Given the description of an element on the screen output the (x, y) to click on. 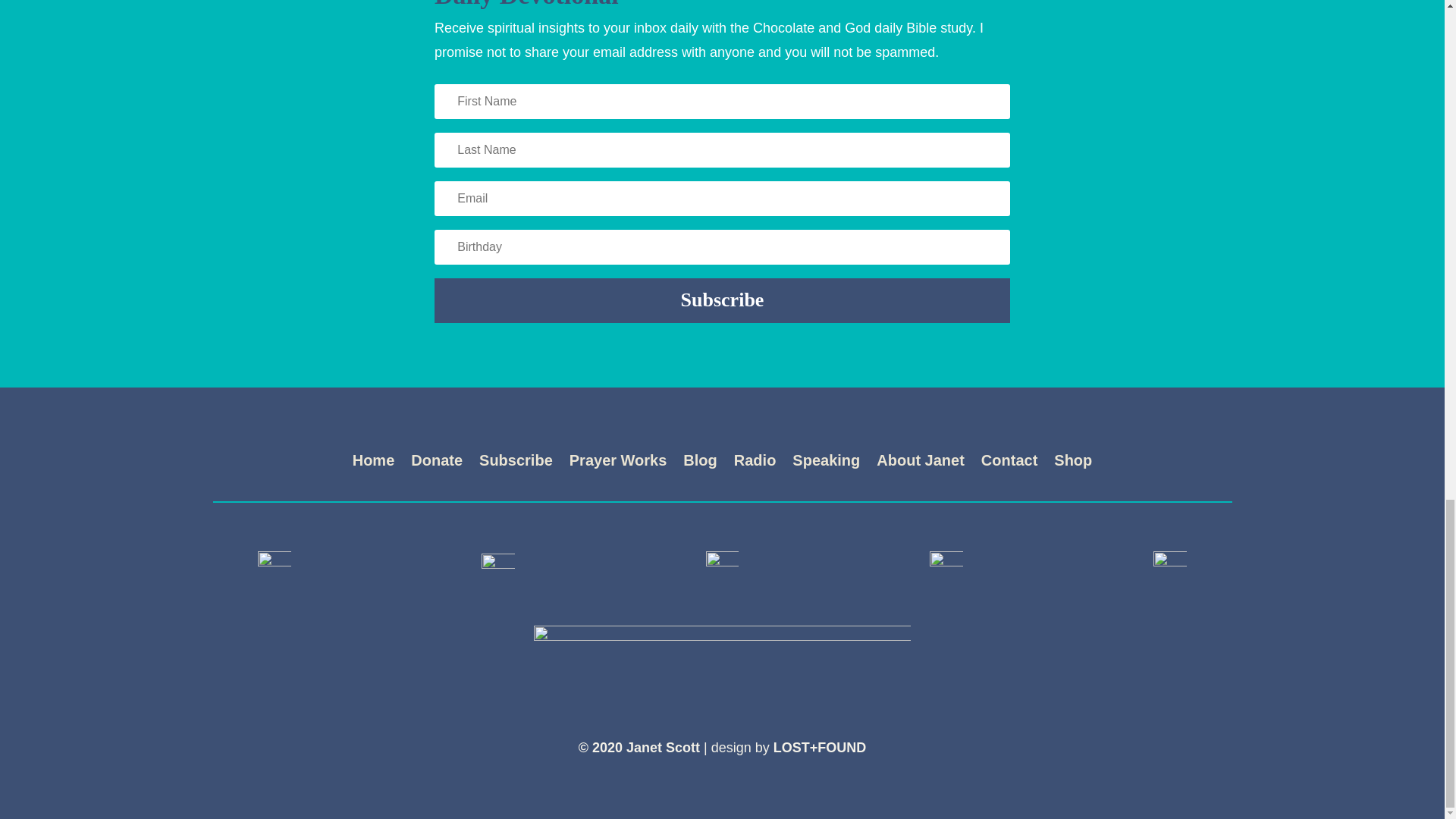
Donate (436, 463)
twitter-footer-icon (498, 566)
About Janet (919, 463)
Prayer Works (617, 463)
Contact (1008, 463)
Blog (699, 463)
Subscribe (516, 463)
Radio (754, 463)
Subscribe (721, 300)
Shop (1073, 463)
